Given the description of an element on the screen output the (x, y) to click on. 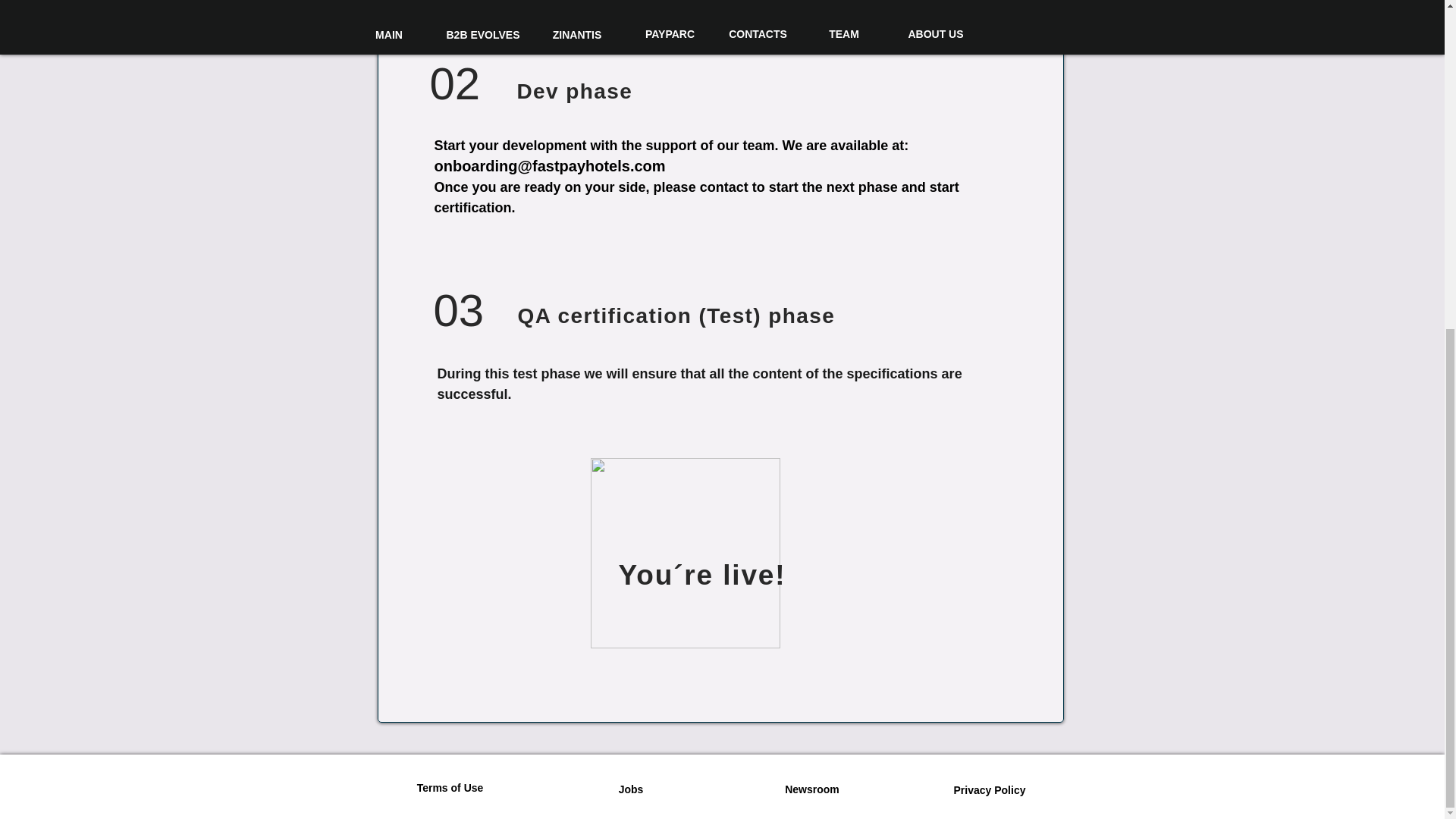
Privacy Policy (990, 791)
Terms of Use (450, 788)
CONTENT API SPECS (860, 8)
Newsroom (811, 790)
Jobs (631, 790)
